Given the description of an element on the screen output the (x, y) to click on. 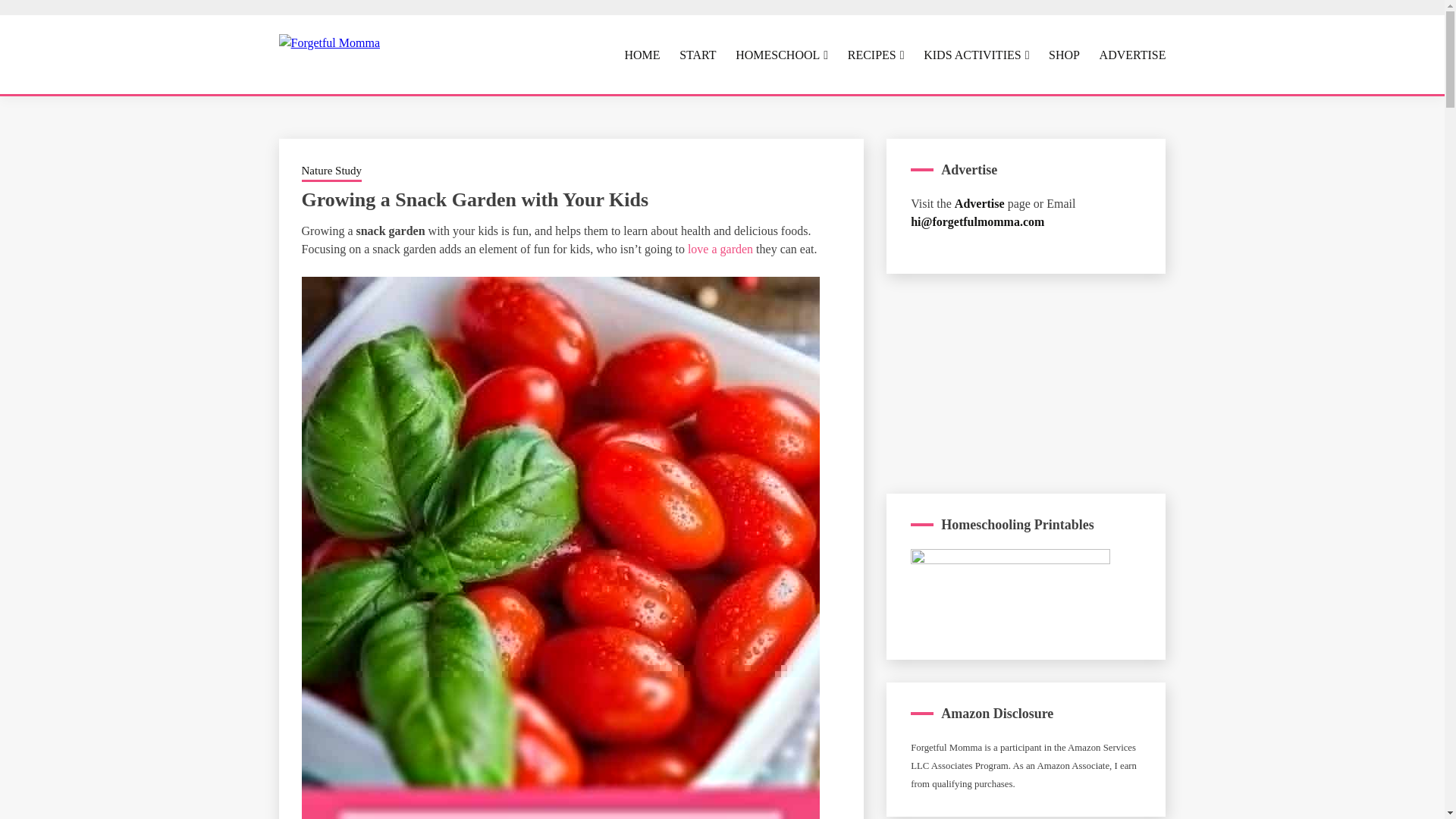
SHOP (1064, 54)
FORGETFUL MOMMA (521, 106)
HOMESCHOOL (781, 54)
START (697, 54)
KIDS ACTIVITIES (976, 54)
HOME (641, 54)
RECIPES (875, 54)
Nature Study (331, 171)
ADVERTISE (1132, 54)
love a garden (719, 248)
